Given the description of an element on the screen output the (x, y) to click on. 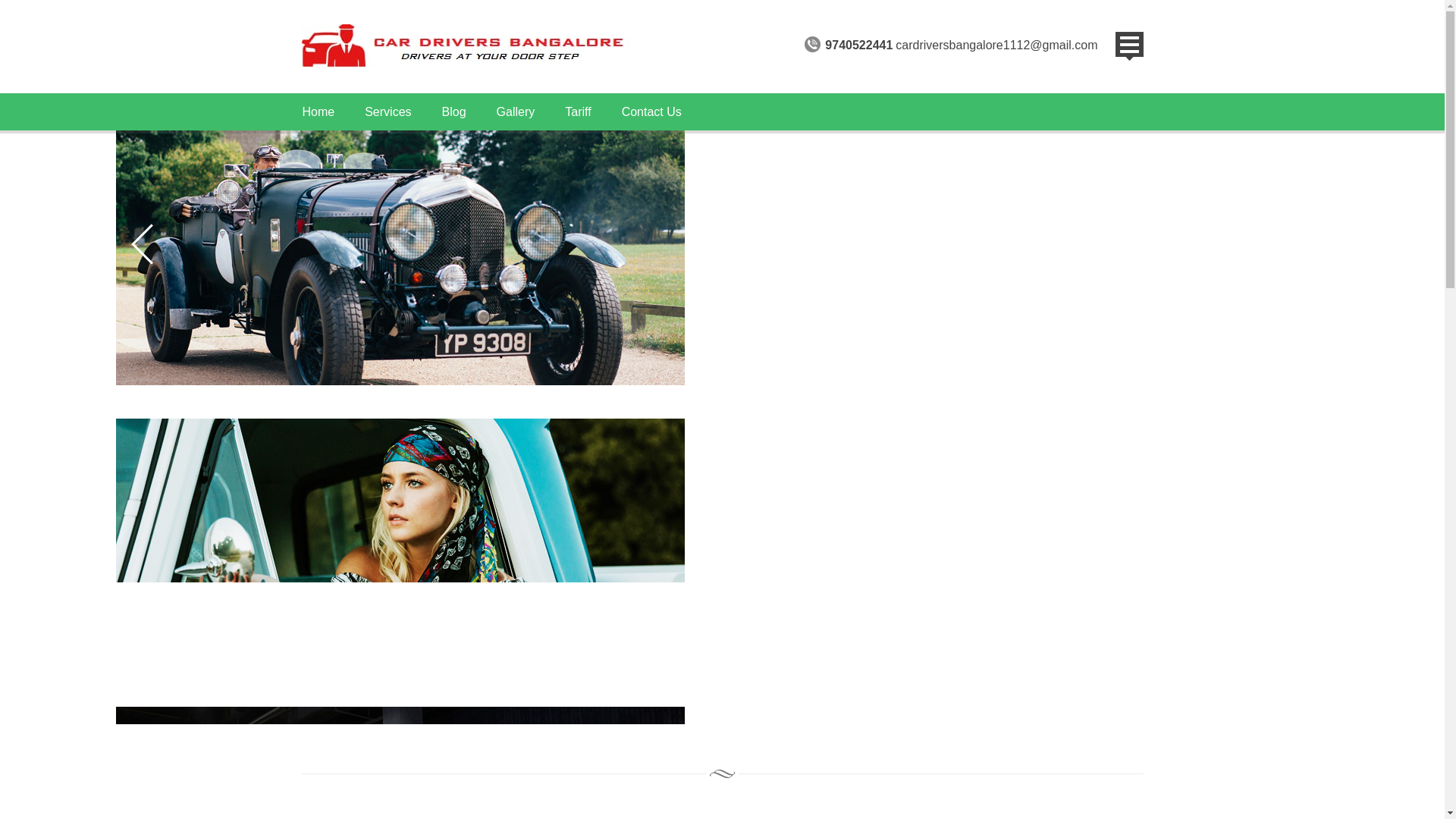
Services (387, 111)
Contact Us (652, 111)
Tariff (577, 111)
Home (317, 111)
Gallery (515, 111)
Blog (453, 111)
